Given the description of an element on the screen output the (x, y) to click on. 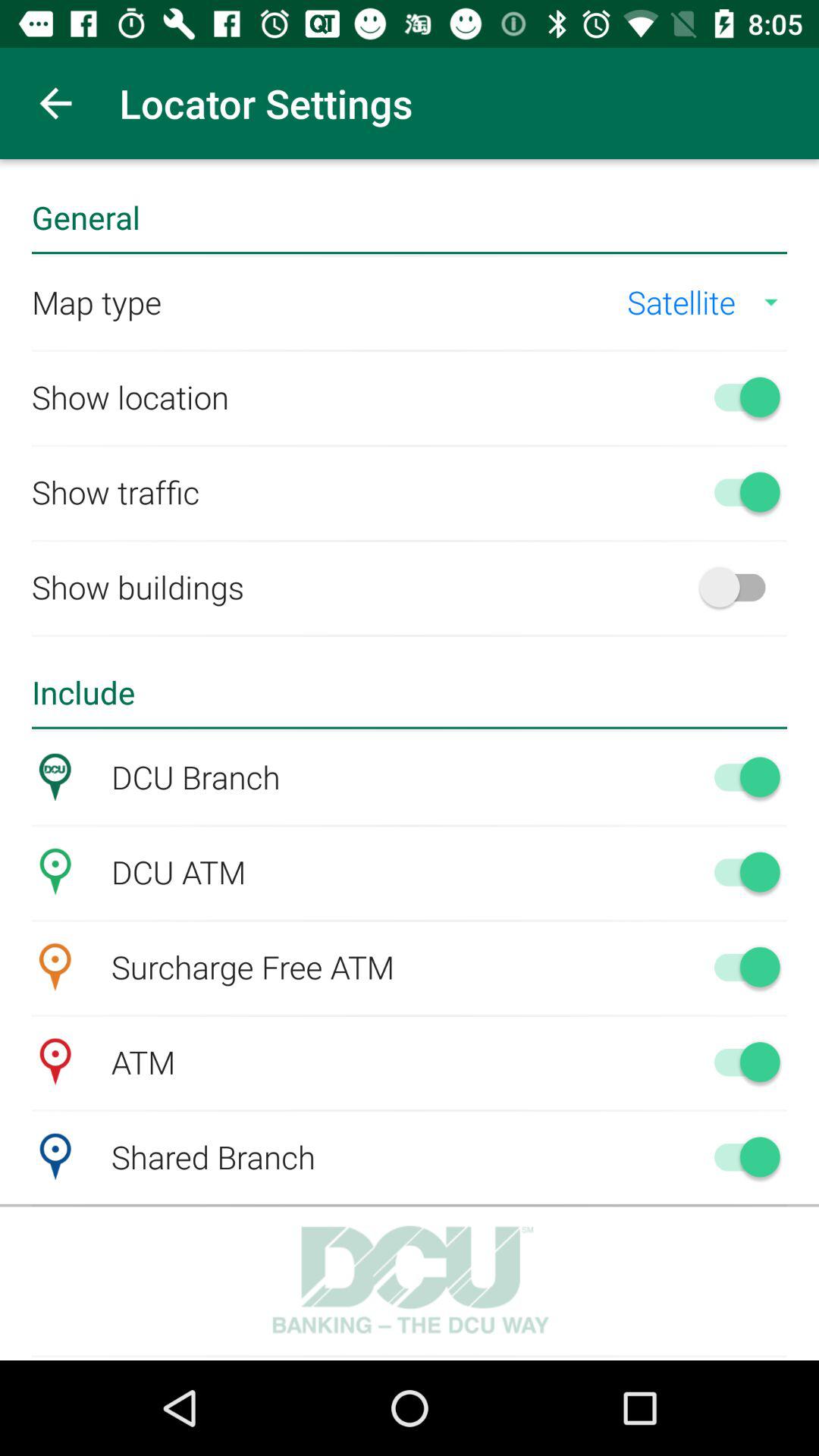
press the item above the general item (55, 103)
